Given the description of an element on the screen output the (x, y) to click on. 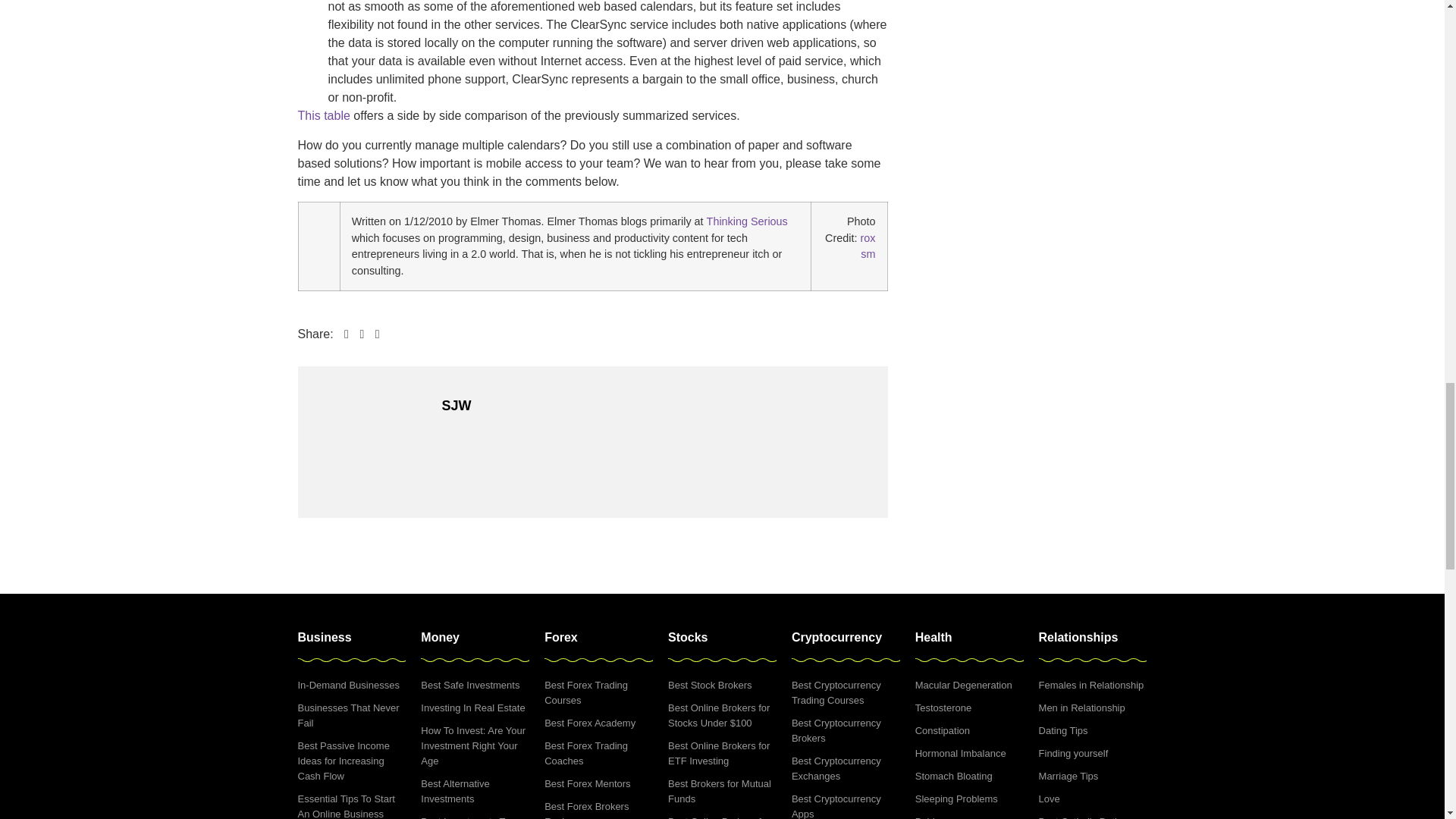
Elmer Thomas (317, 222)
